Given the description of an element on the screen output the (x, y) to click on. 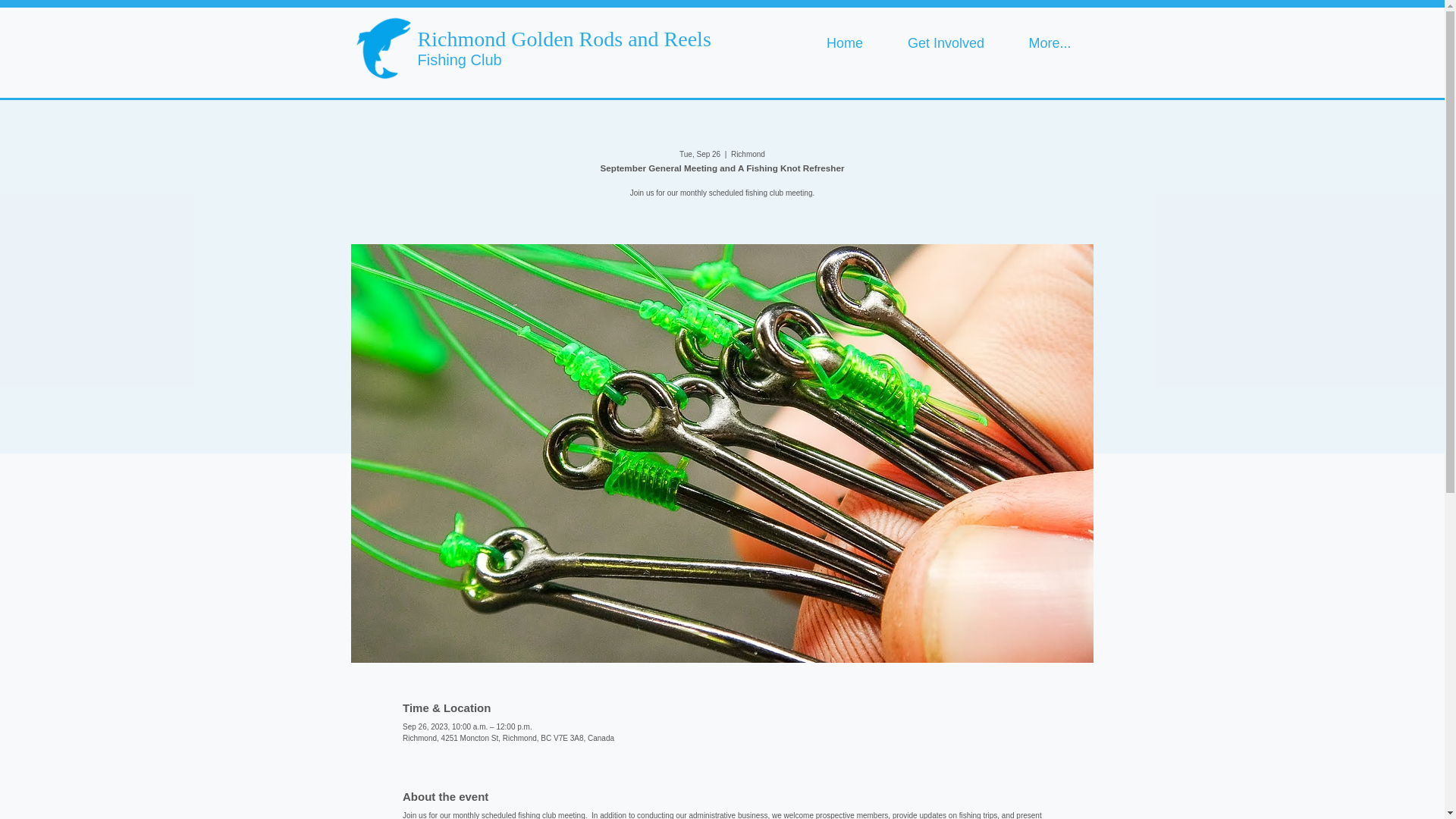
Fishing Club (458, 59)
Richmond Golden Rods and Reels (563, 38)
Home (844, 43)
Get Involved (946, 43)
